Given the description of an element on the screen output the (x, y) to click on. 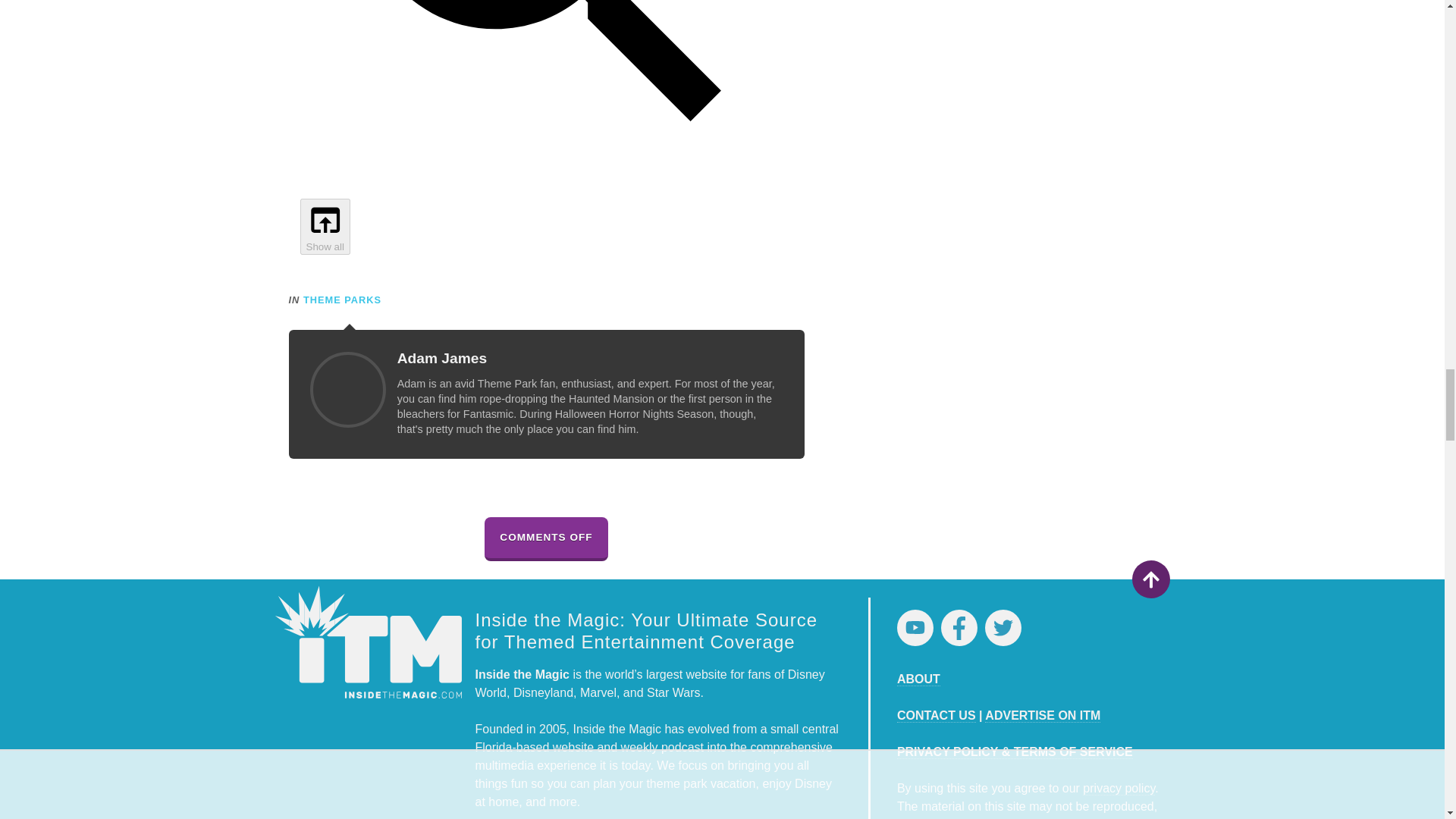
Return to Top (1150, 579)
